Given the description of an element on the screen output the (x, y) to click on. 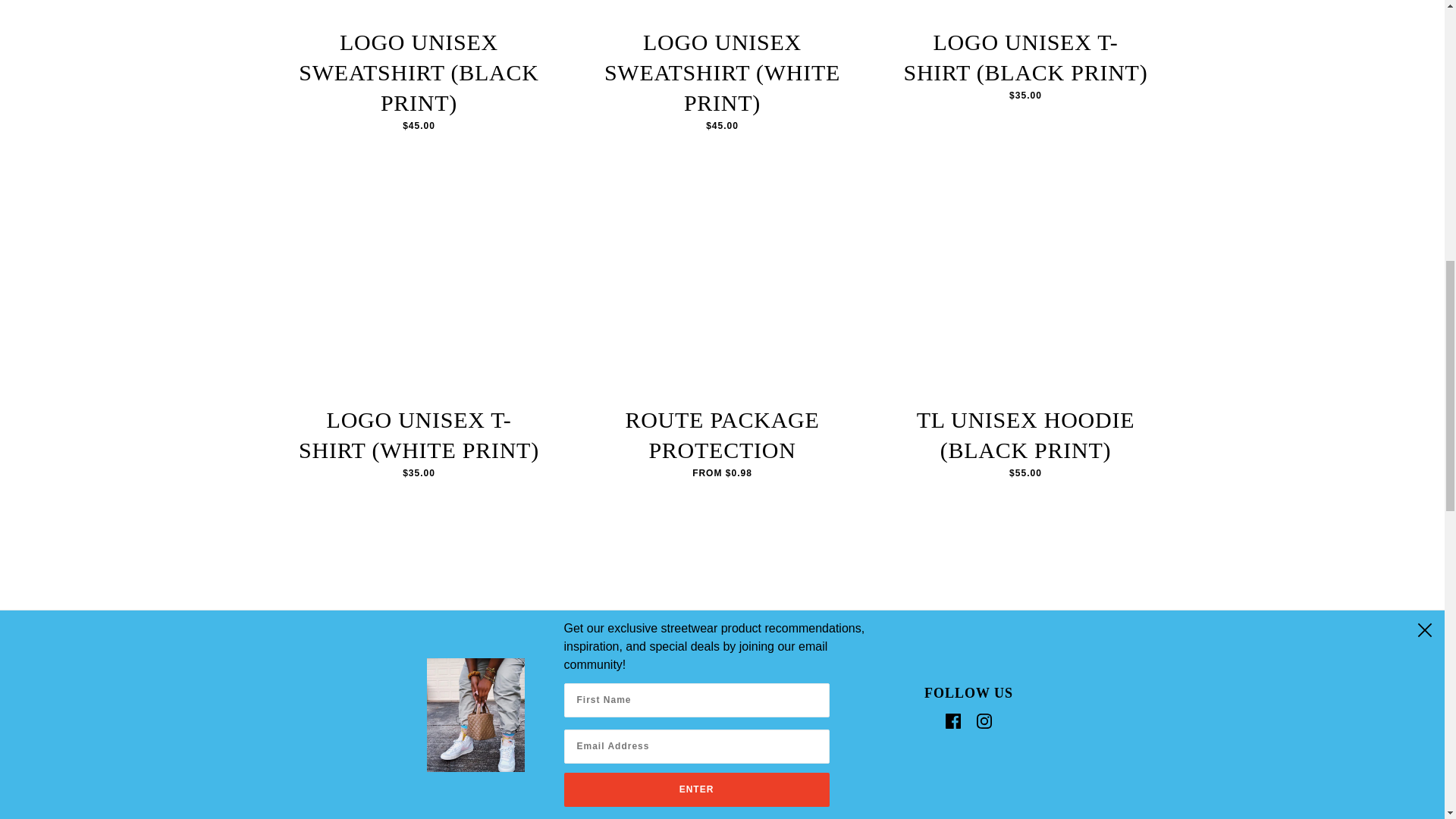
ROUTE PACKAGE PROTECTION (721, 437)
